Given the description of an element on the screen output the (x, y) to click on. 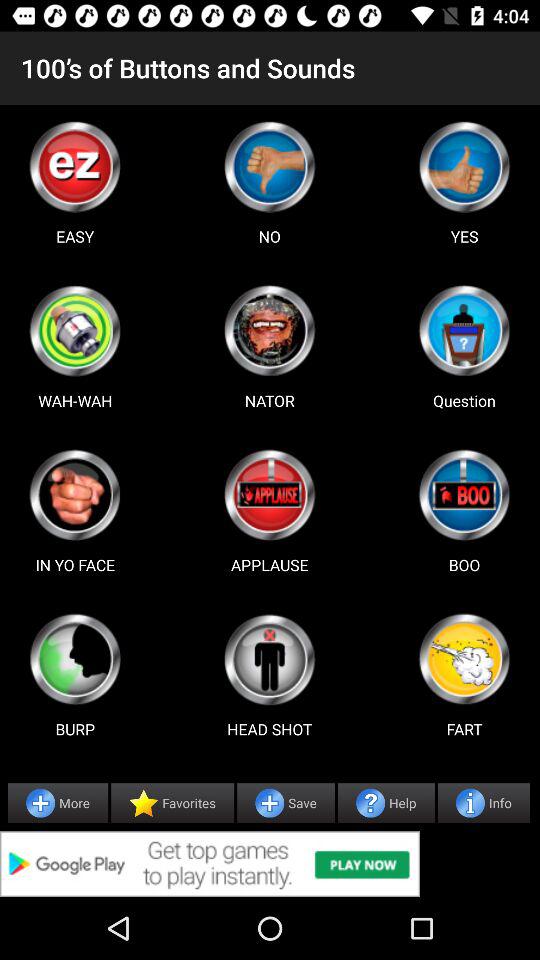
yes button (464, 166)
